Given the description of an element on the screen output the (x, y) to click on. 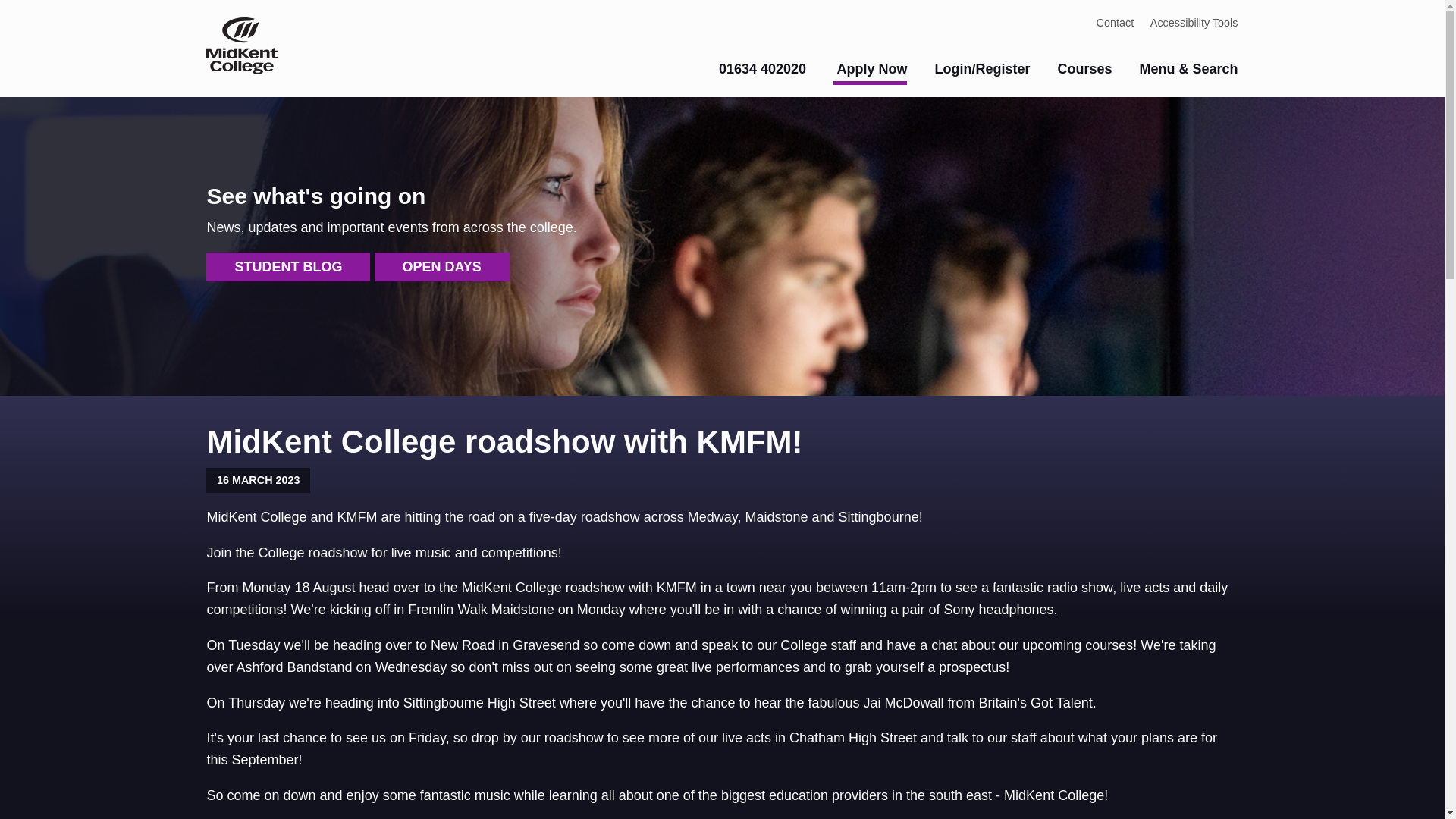
 Apply Now (869, 73)
 01634 402020 (760, 68)
Courses (1084, 69)
Accessibility Tools (1194, 21)
Contact (1115, 21)
